Given the description of an element on the screen output the (x, y) to click on. 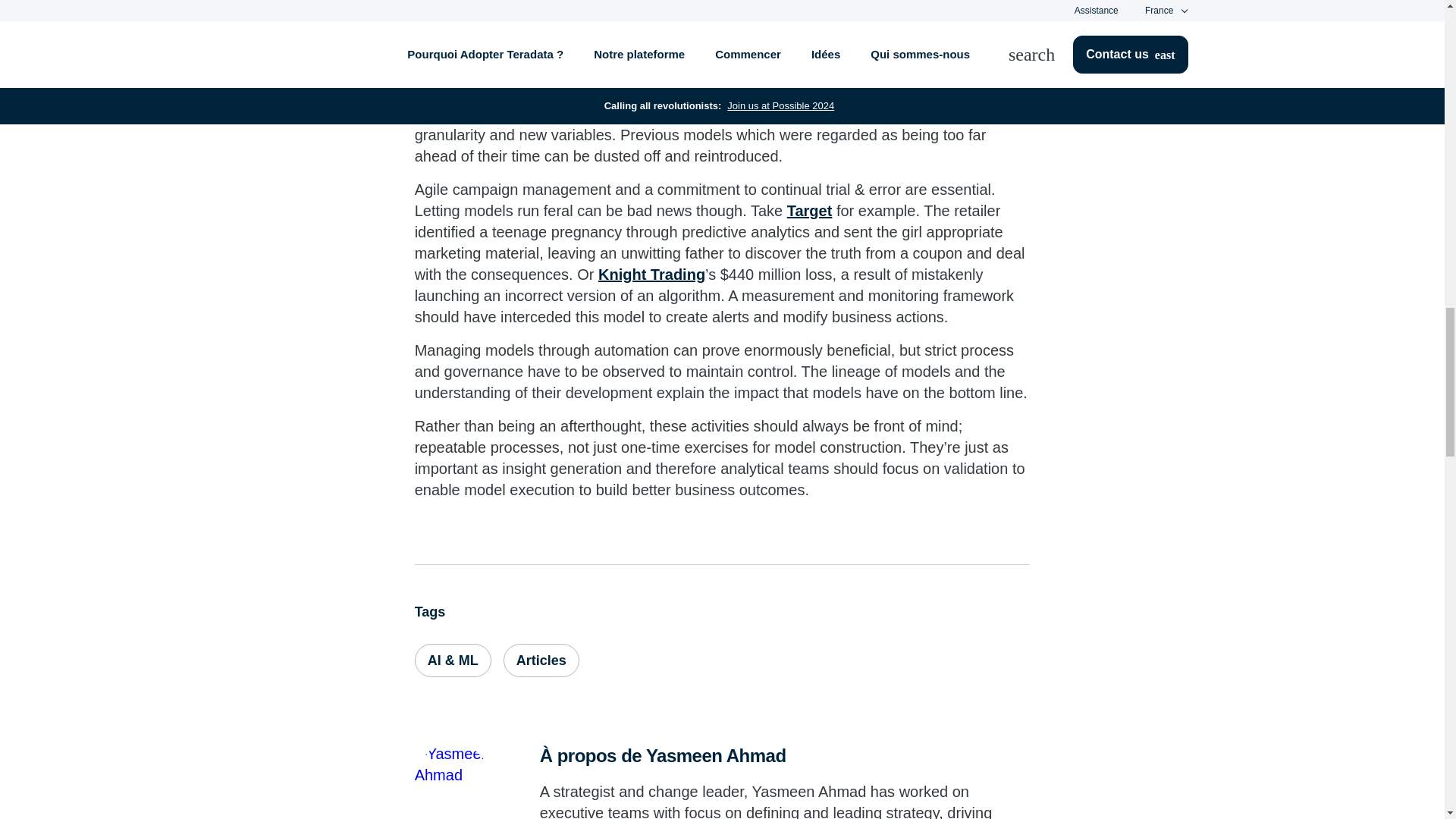
Knight Trading (651, 274)
Yasmeen Ahmad (452, 780)
Target (809, 210)
Articles (541, 660)
